Given the description of an element on the screen output the (x, y) to click on. 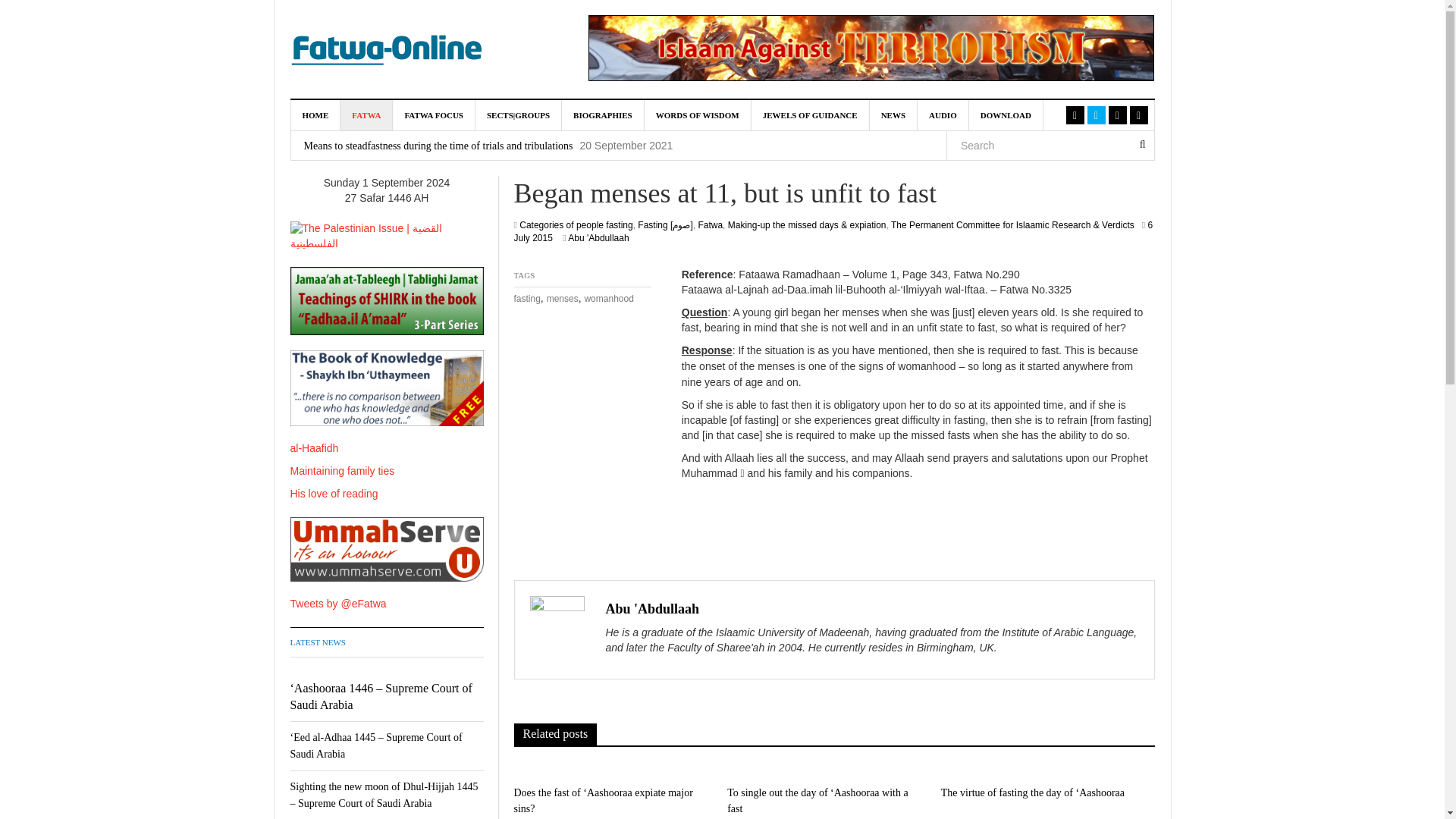
Islaam Against Terrorism (871, 48)
Posts by Abu 'Abdullaah (651, 608)
HOME (315, 114)
FATWA (366, 114)
